Given the description of an element on the screen output the (x, y) to click on. 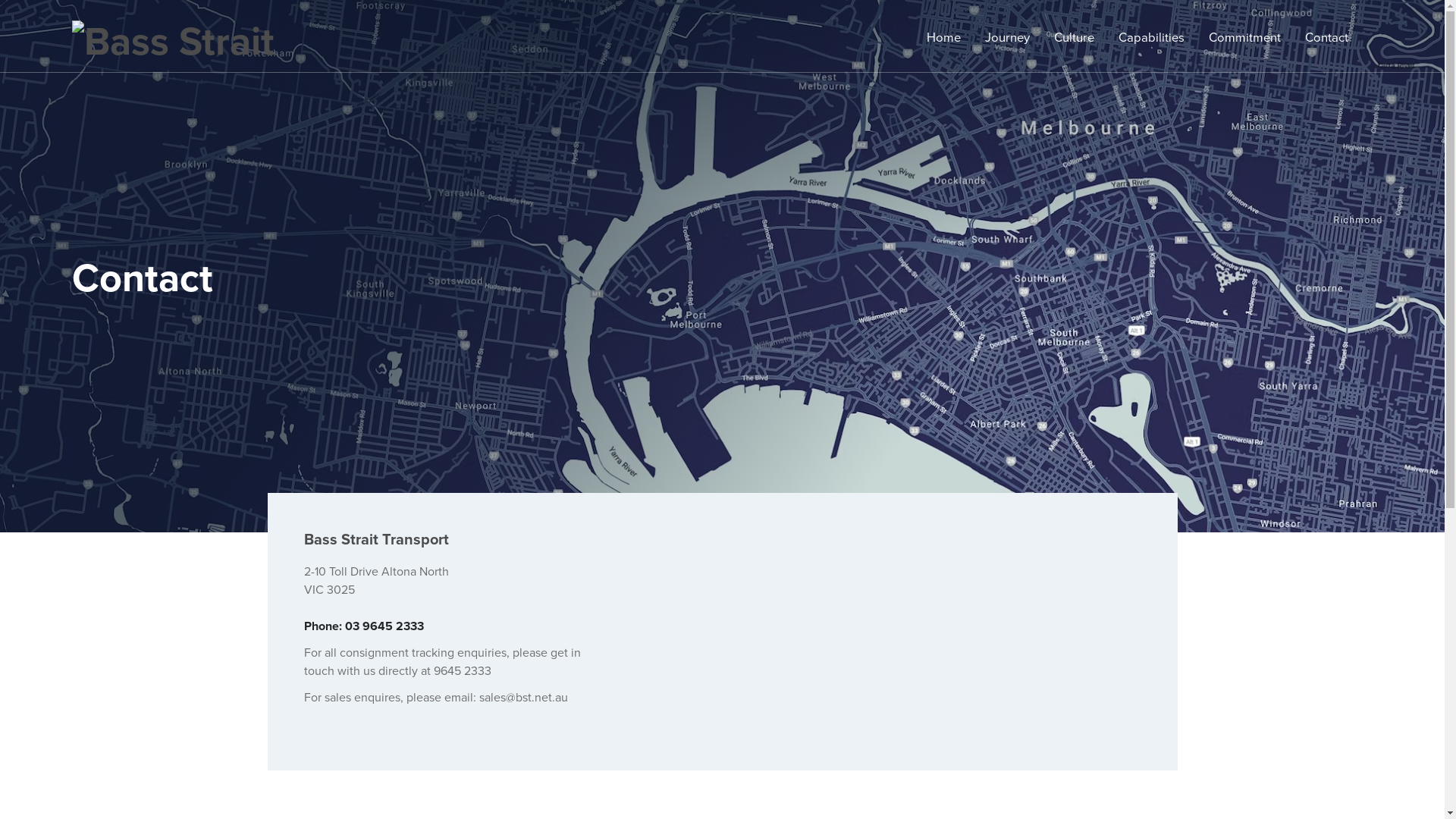
Commitment Element type: text (1244, 38)
Culture Element type: text (1074, 38)
Journey Element type: text (1007, 38)
Home Element type: text (943, 38)
Contact Element type: text (1326, 38)
Capabilities Element type: text (1151, 38)
